Given the description of an element on the screen output the (x, y) to click on. 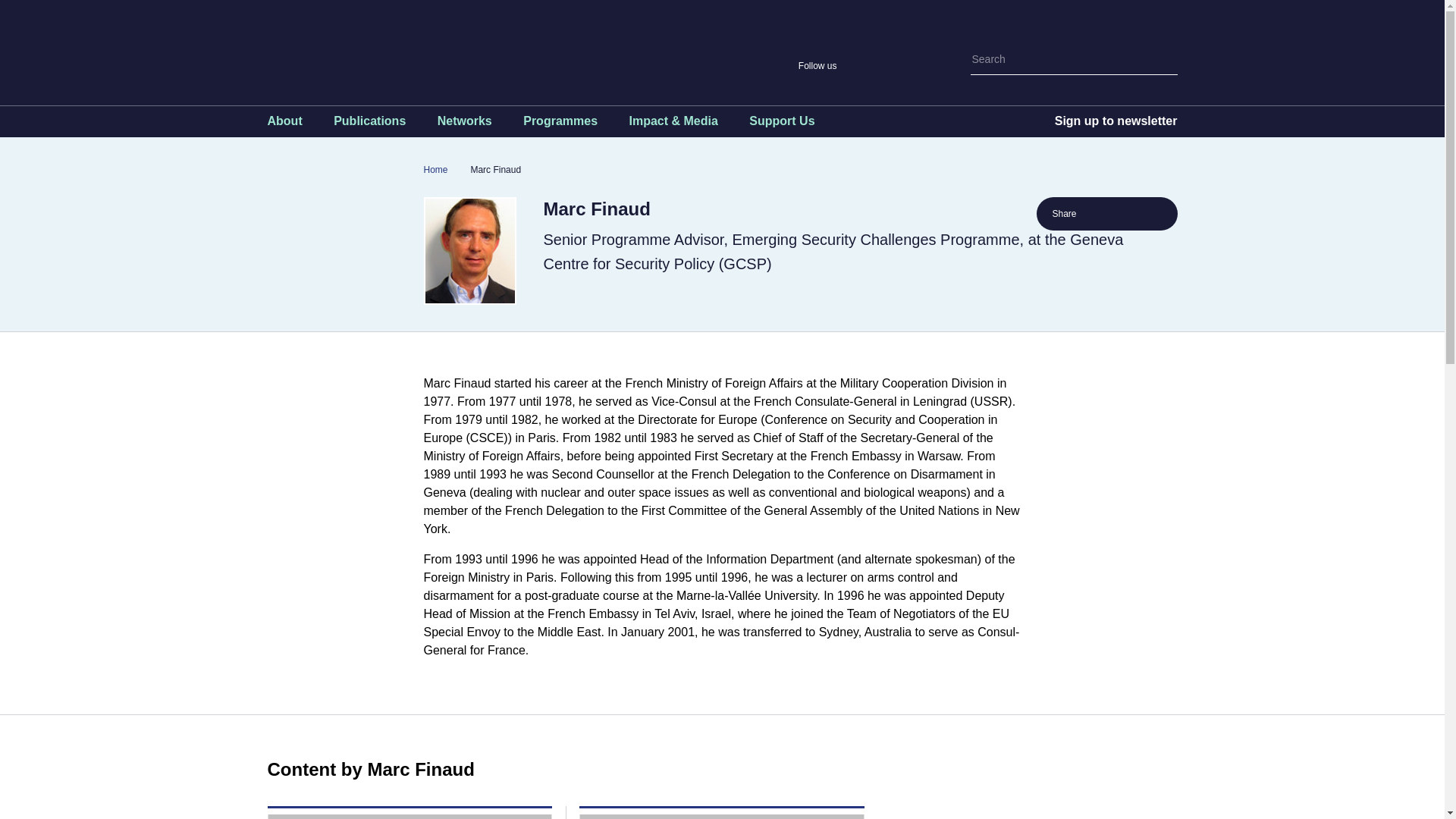
Share on Twitter (1098, 213)
Nuclear Weapons: Born in Sin, Doomed to be Banned (408, 816)
Facebook (880, 65)
Programmes (559, 124)
Publications (369, 124)
Share by Email (1147, 214)
Go to the homepage (486, 46)
Networks (465, 124)
Share on Facebook (1123, 213)
Twitter (854, 65)
LinkedIn (933, 65)
About (283, 124)
YouTube (906, 65)
